Given the description of an element on the screen output the (x, y) to click on. 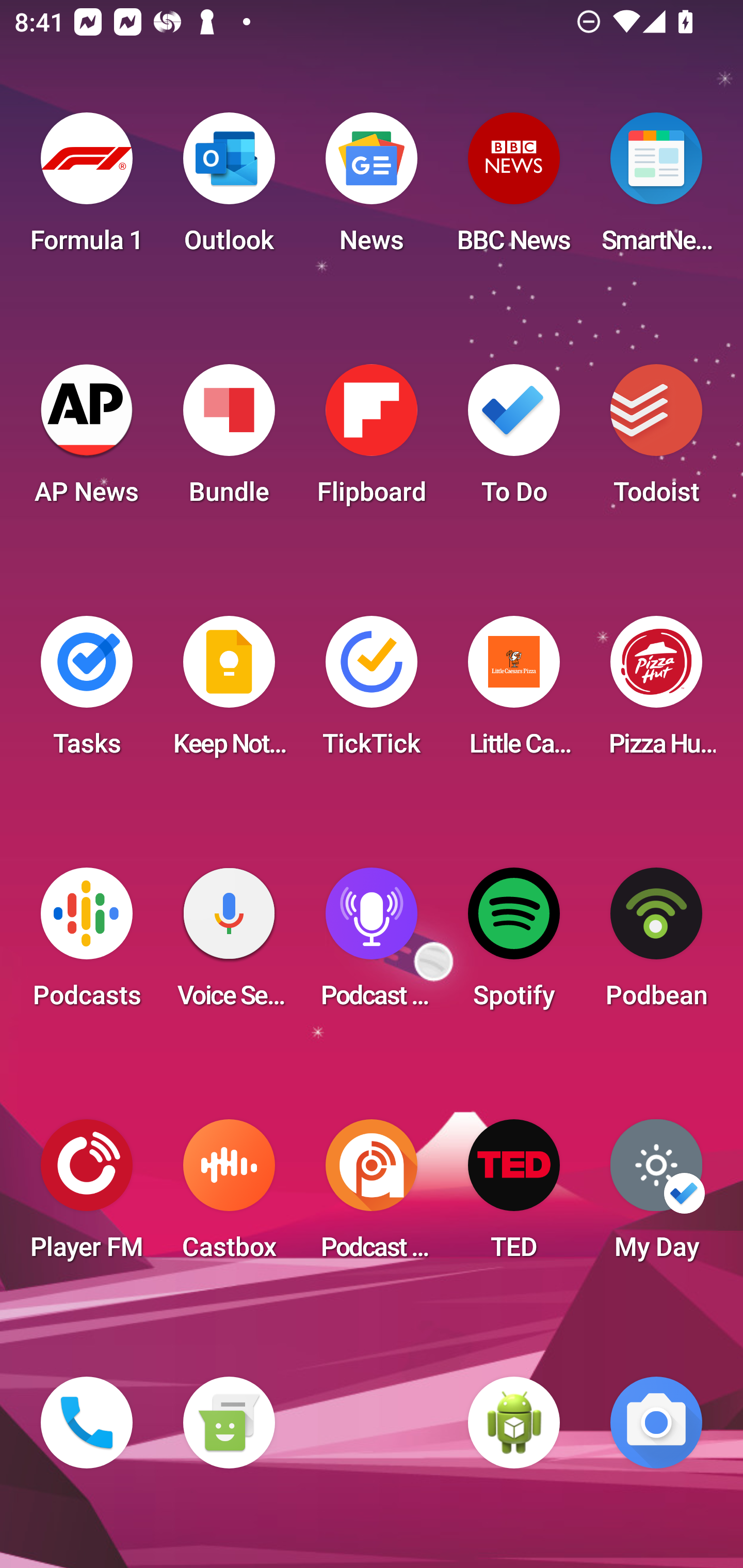
Formula 1 (86, 188)
Outlook (228, 188)
News (371, 188)
BBC News (513, 188)
SmartNews (656, 188)
AP News (86, 440)
Bundle (228, 440)
Flipboard (371, 440)
To Do (513, 440)
Todoist (656, 440)
Tasks (86, 692)
Keep Notes (228, 692)
TickTick (371, 692)
Little Caesars Pizza (513, 692)
Pizza Hut HK & Macau (656, 692)
Podcasts (86, 943)
Voice Search (228, 943)
Podcast Player (371, 943)
Spotify (513, 943)
Podbean (656, 943)
Player FM (86, 1195)
Castbox (228, 1195)
Podcast Addict (371, 1195)
TED (513, 1195)
My Day (656, 1195)
Phone (86, 1422)
Messaging (228, 1422)
WebView Browser Tester (513, 1422)
Camera (656, 1422)
